Given the description of an element on the screen output the (x, y) to click on. 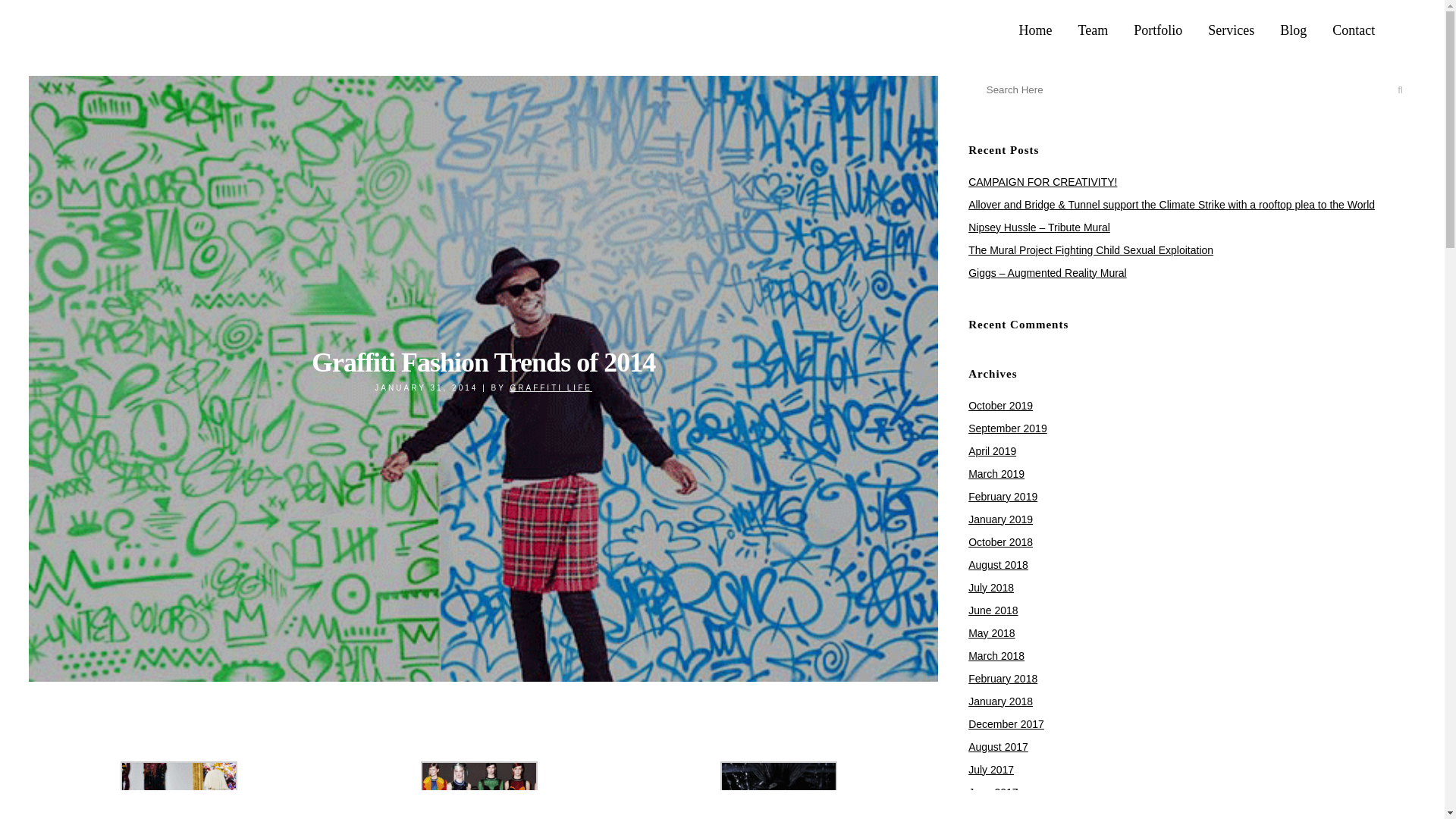
Home (1035, 30)
CAMPAIGN FOR CREATIVITY! (1042, 182)
Services (1230, 30)
Portfolio (1158, 30)
Team (1093, 30)
GRAFFITI LIFE (550, 388)
Contact (1353, 30)
